Given the description of an element on the screen output the (x, y) to click on. 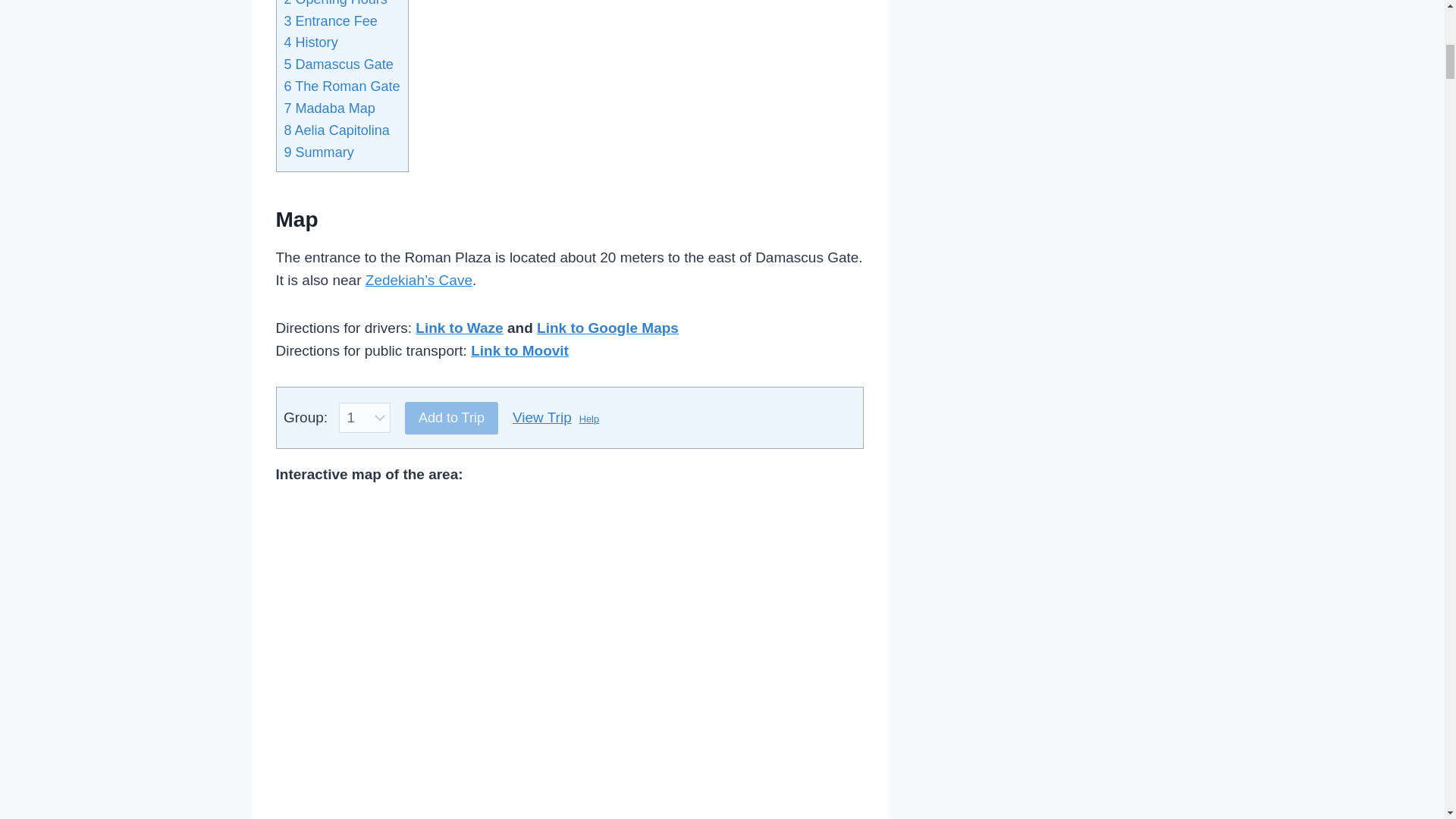
3 Entrance Fee (330, 20)
6 The Roman Gate (340, 86)
5 Damascus Gate (338, 64)
7 Madaba Map (328, 108)
2 Opening Hours (335, 3)
4 History (310, 42)
